Given the description of an element on the screen output the (x, y) to click on. 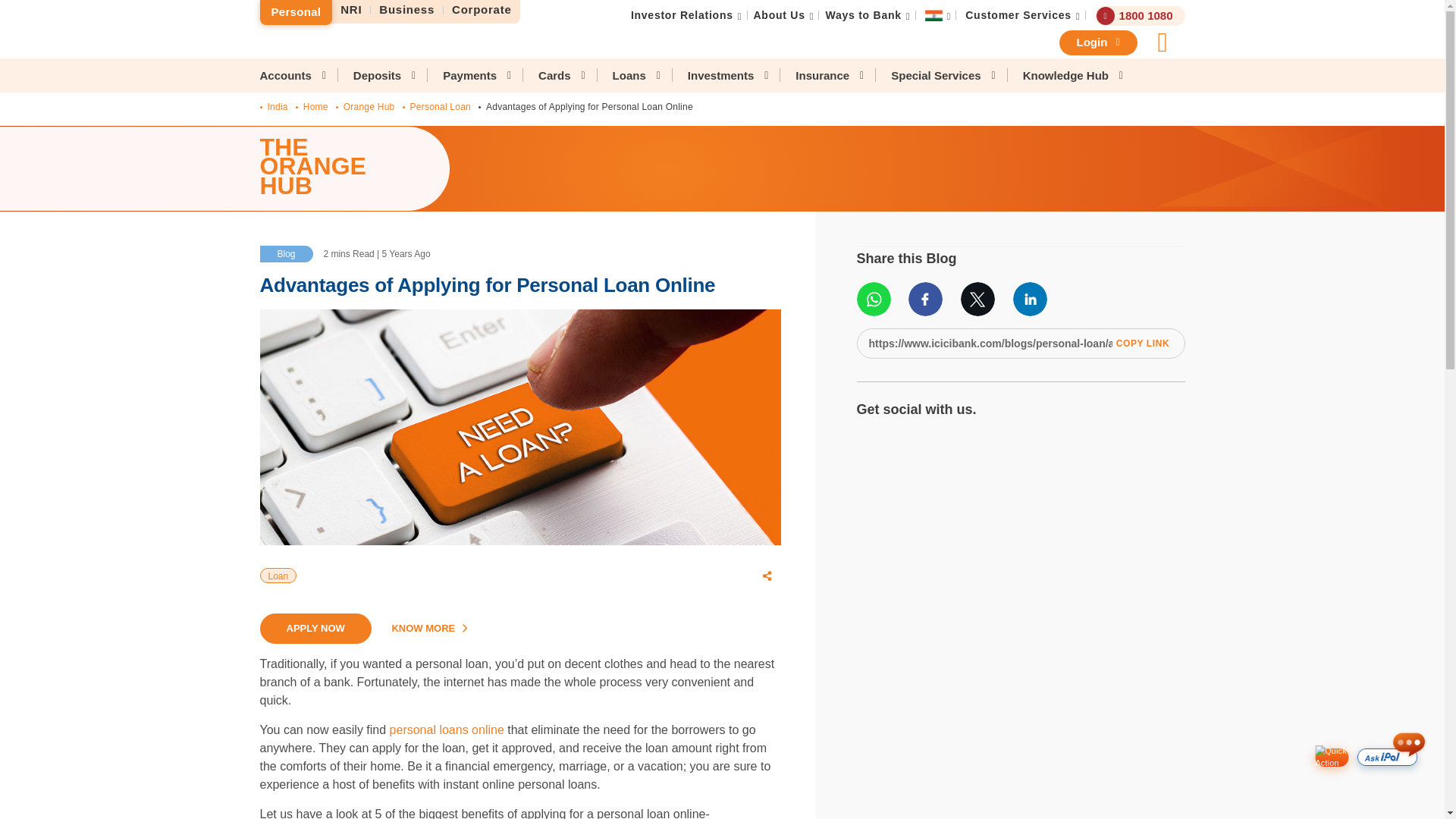
Ways to Bank (863, 15)
Business (407, 9)
Personal (295, 12)
Corporate (481, 9)
Investor Relations (681, 15)
NRI (351, 9)
Customer Services (1018, 15)
About Us (779, 15)
